Given the description of an element on the screen output the (x, y) to click on. 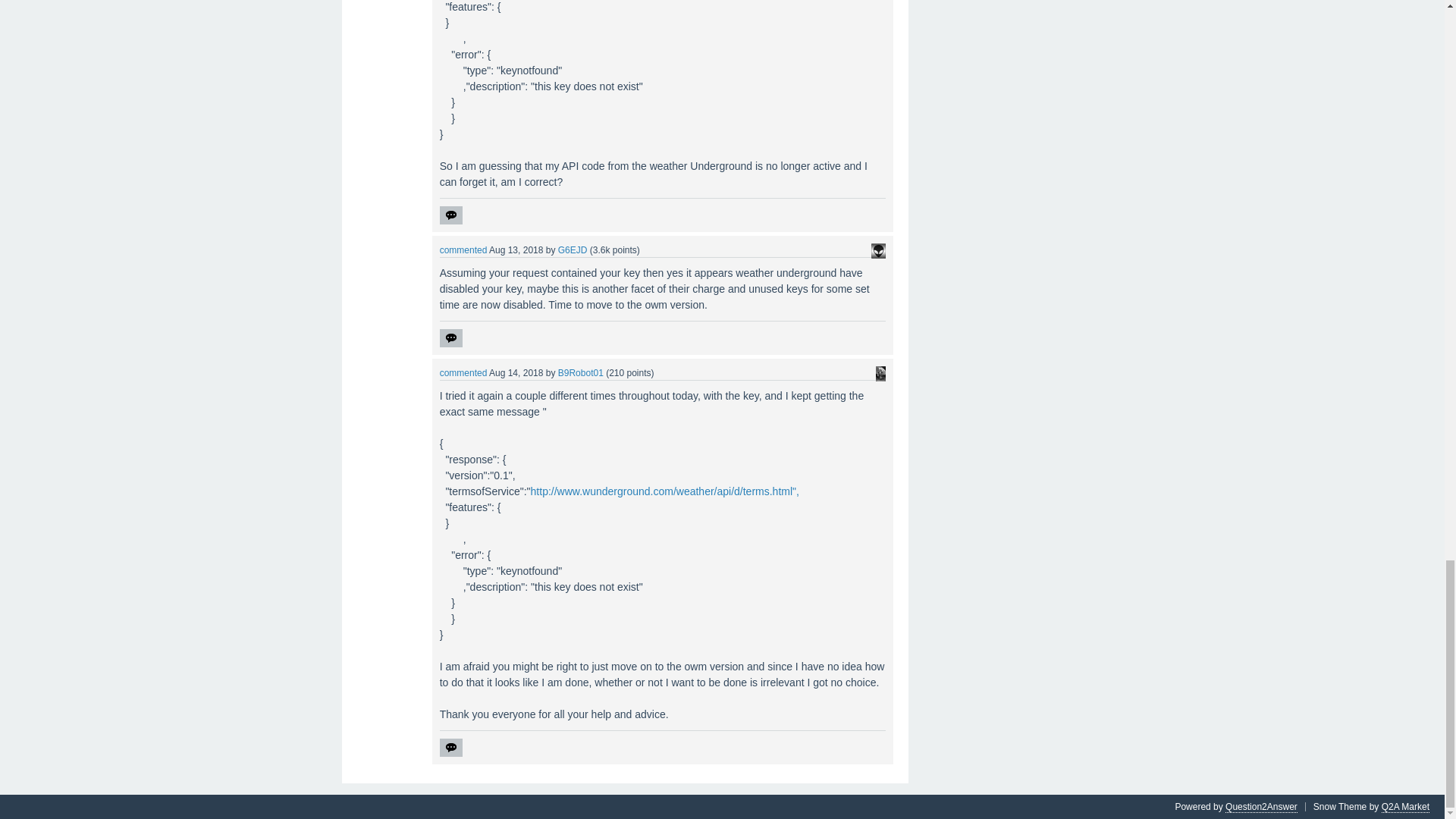
reply (451, 215)
reply (451, 338)
reply (451, 747)
